Given the description of an element on the screen output the (x, y) to click on. 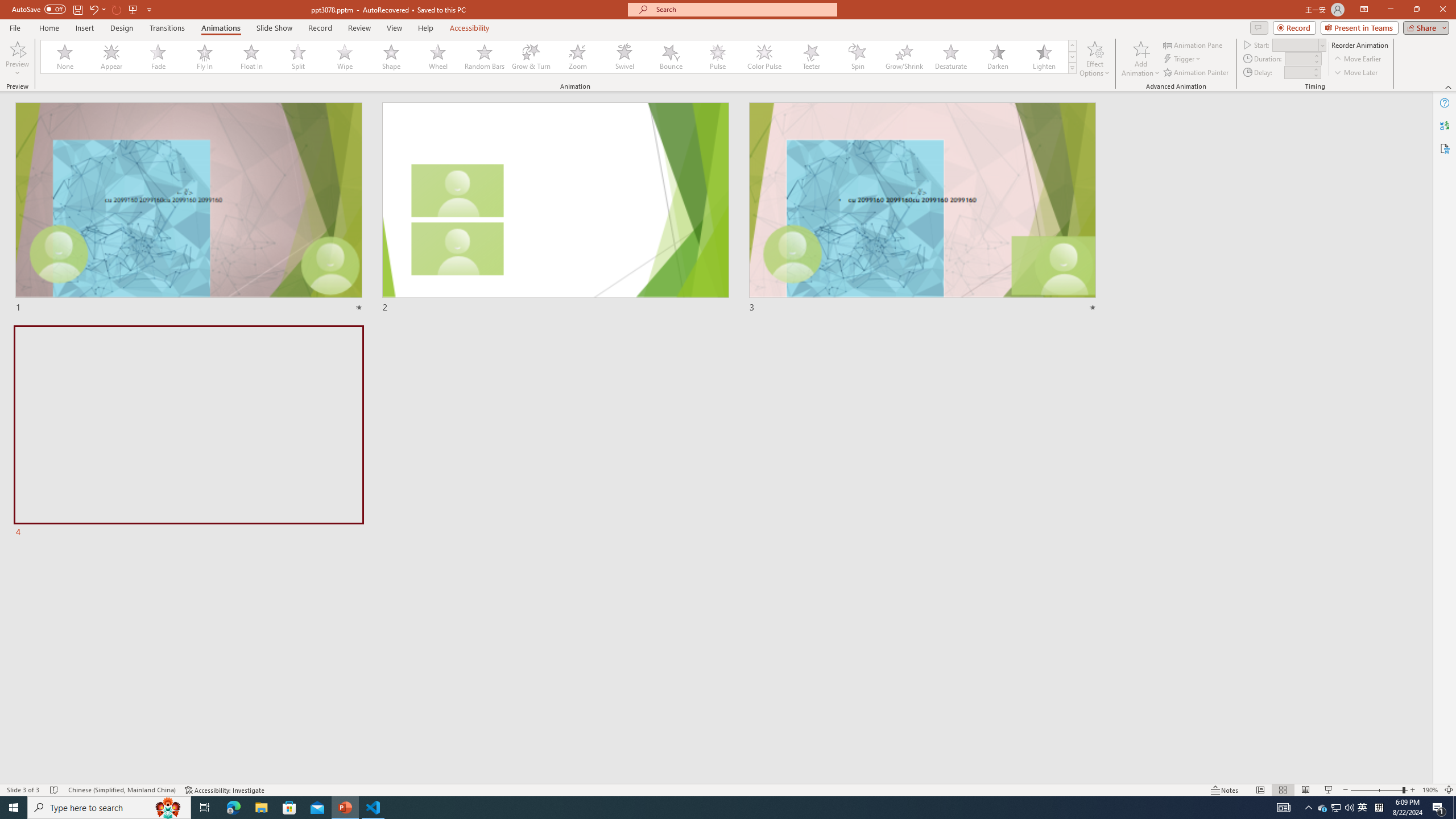
Float In (251, 56)
Split (298, 56)
Open (1321, 44)
Wipe (344, 56)
Fly In (205, 56)
Grow/Shrink (903, 56)
